Given the description of an element on the screen output the (x, y) to click on. 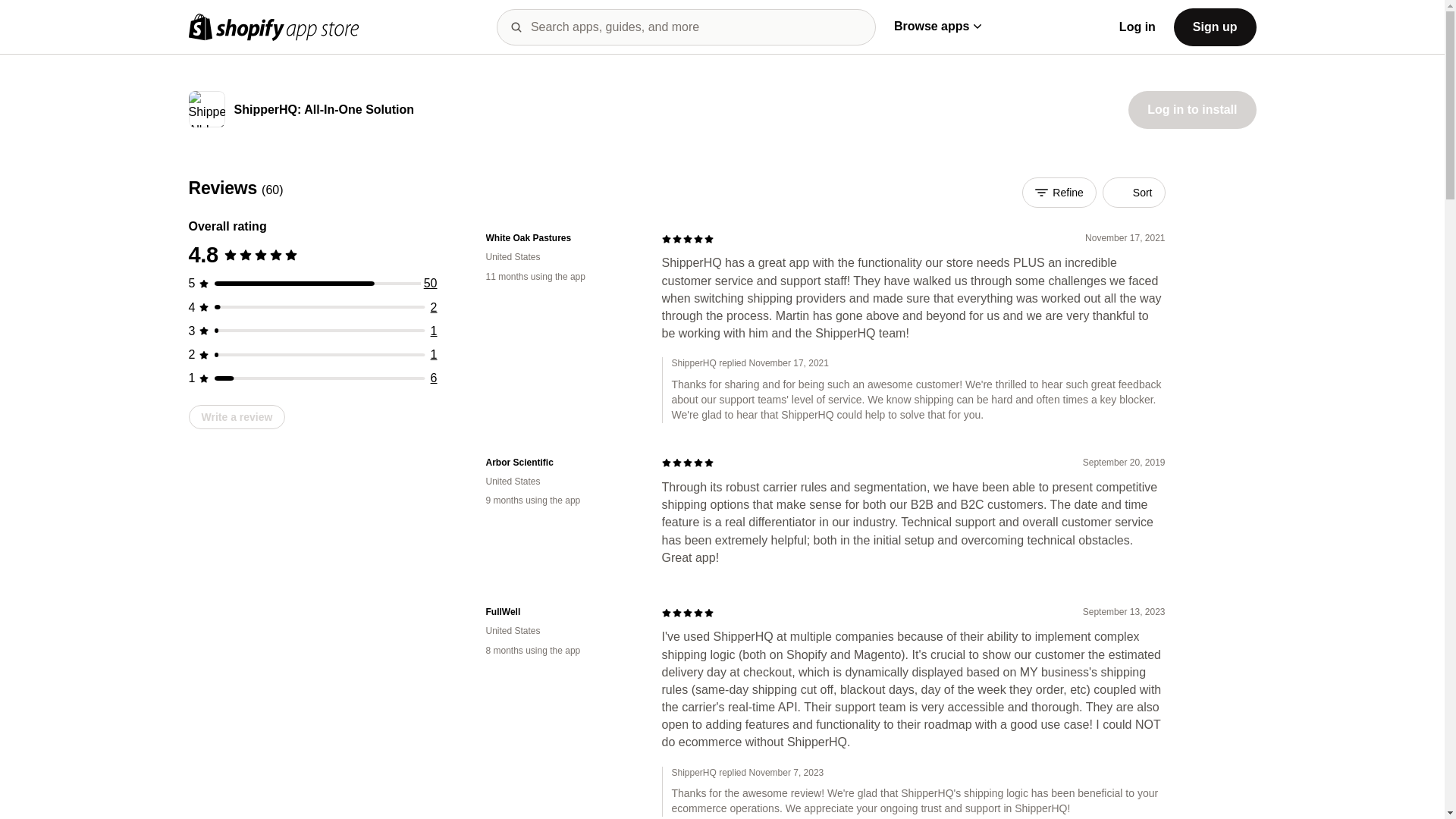
Log in to install (1191, 109)
Sign up (1214, 26)
Browse apps (937, 26)
Refine (1059, 192)
50 (430, 282)
FullWell (560, 612)
Write a review (236, 416)
6 (434, 377)
1 (434, 330)
1 (434, 354)
Log in (1137, 27)
2 (434, 307)
White Oak Pastures (560, 237)
Arbor Scientific (560, 462)
